Given the description of an element on the screen output the (x, y) to click on. 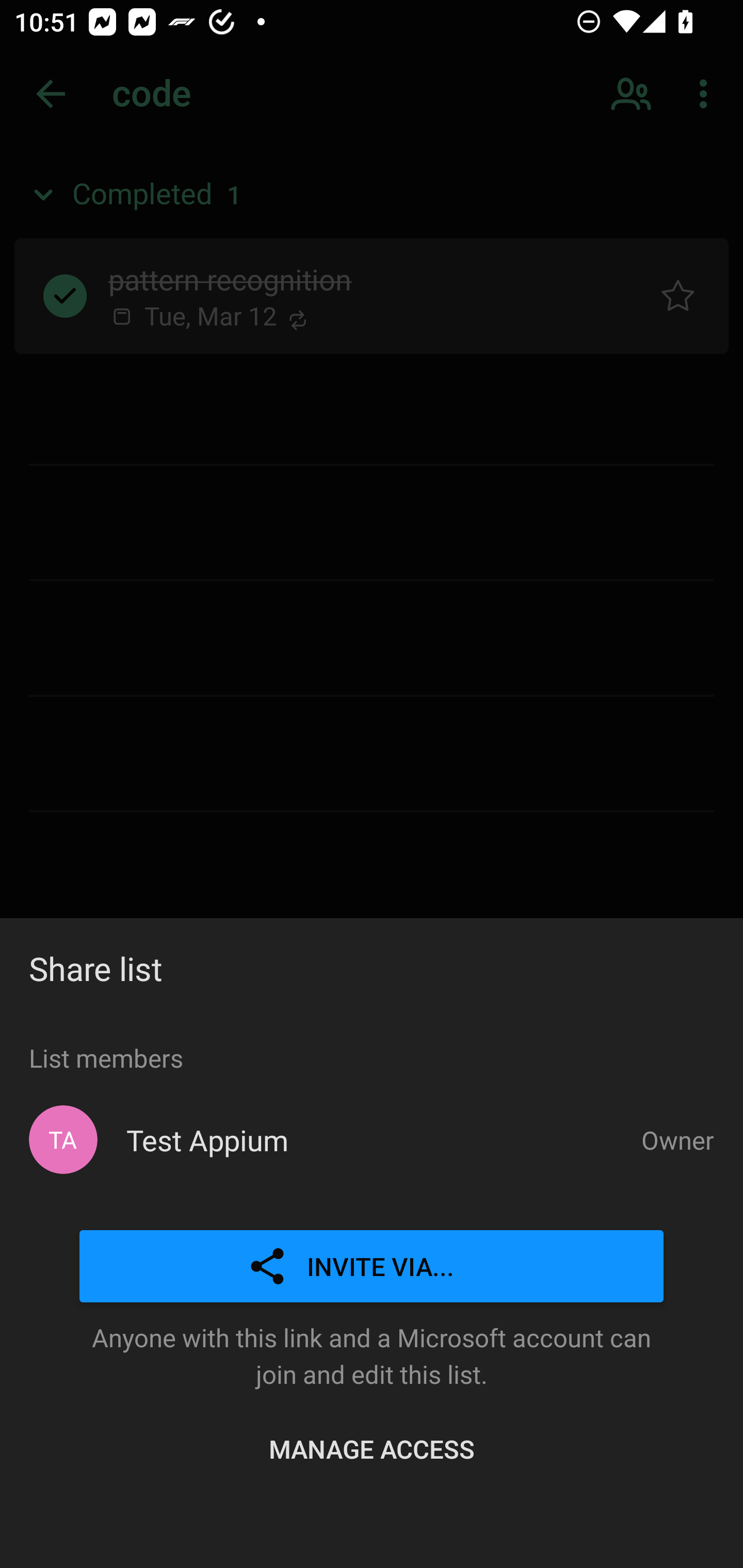
INVITE VIA... (371, 1266)
MANAGE ACCESS (371, 1448)
